Given the description of an element on the screen output the (x, y) to click on. 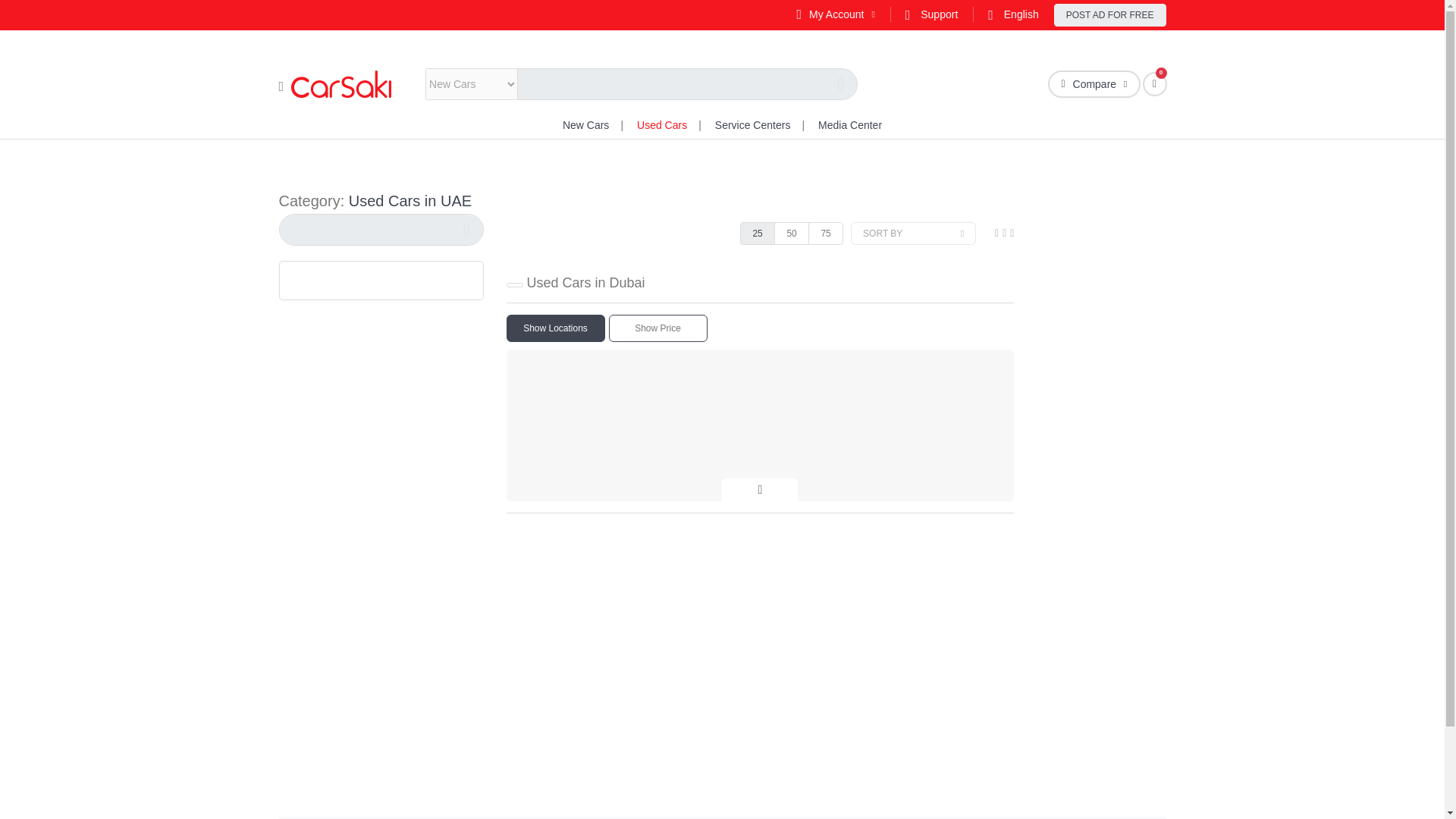
SORT BY (912, 232)
25 (756, 232)
0 (1154, 83)
Compare (1093, 84)
Used Cars (662, 124)
Service Centers (752, 124)
Used Cars (662, 124)
Media Center (850, 124)
Show Locations (555, 328)
Enter at least 2 Character to search (381, 229)
POST AD FOR FREE (1110, 15)
My Account (834, 14)
75 (825, 232)
New Cars (585, 124)
Support (931, 14)
